Given the description of an element on the screen output the (x, y) to click on. 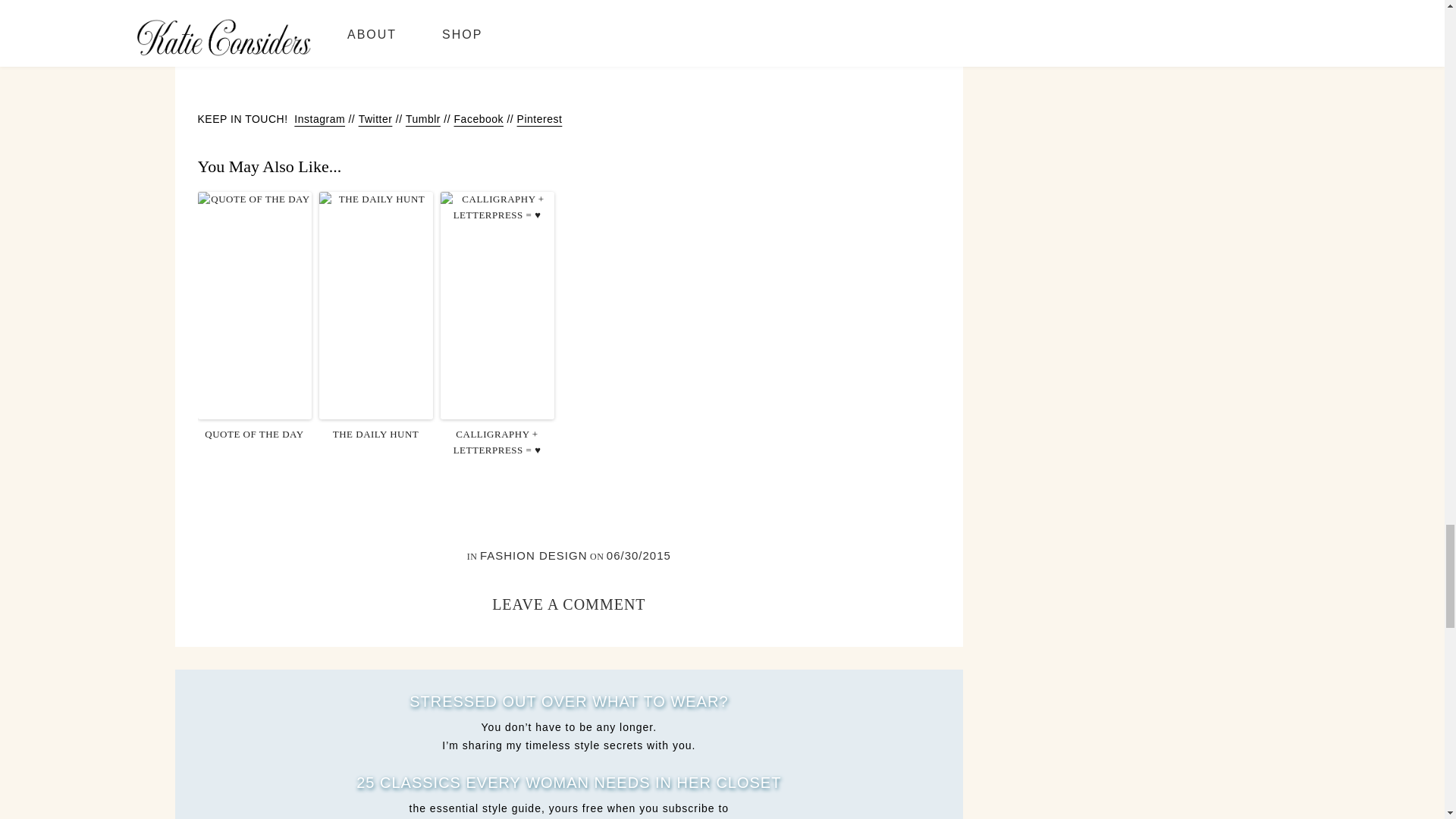
Tumblr (423, 119)
FASHION DESIGN (534, 554)
LEAVE A COMMENT (568, 604)
THE DAILY HUNT (375, 434)
Facebook (478, 119)
Instagram (319, 119)
Twitter (375, 119)
Pinterest (539, 119)
QUOTE OF THE DAY (253, 434)
